Given the description of an element on the screen output the (x, y) to click on. 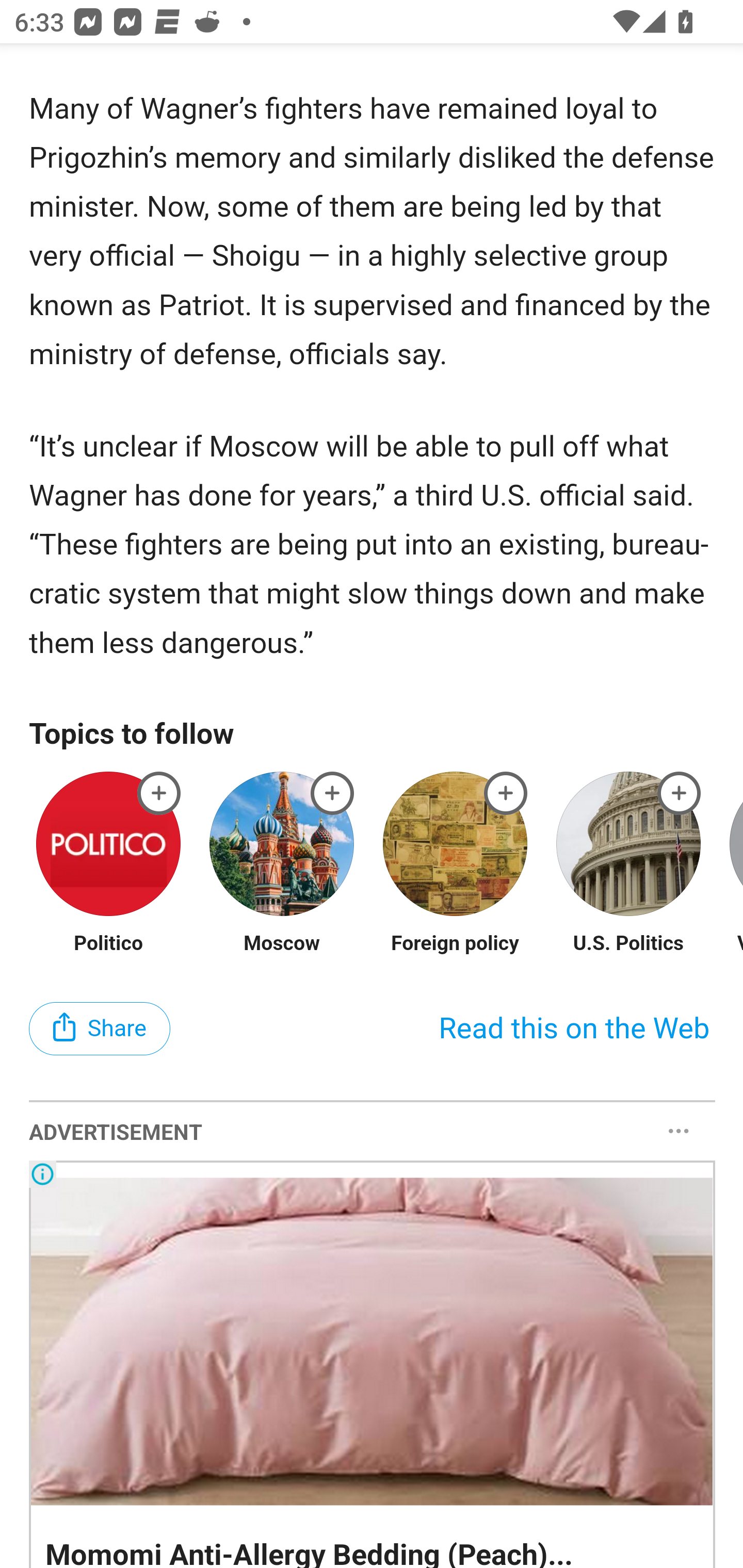
wagner-fighters-russia-africa-00154595 (159, 792)
wagner-fighters-russia-africa-00154595 (332, 792)
wagner-fighters-russia-africa-00154595 (505, 792)
wagner-fighters-russia-africa-00154595 (679, 792)
Politico (108, 943)
Moscow (281, 943)
Foreign policy (455, 943)
U.S. Politics (628, 943)
Read this on the Web (573, 1029)
Share (99, 1028)
